Given the description of an element on the screen output the (x, y) to click on. 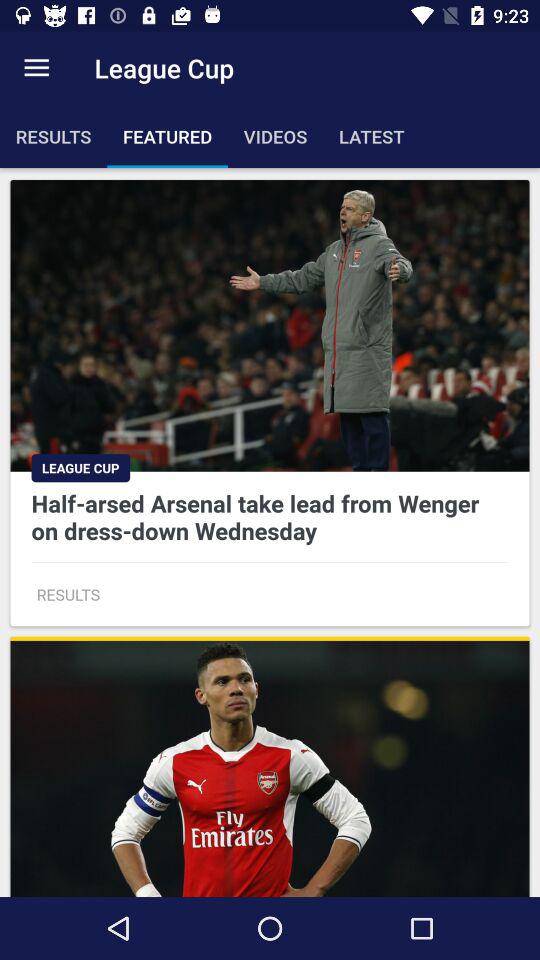
go to the videos (274, 136)
select the first thumbnail (269, 402)
